Given the description of an element on the screen output the (x, y) to click on. 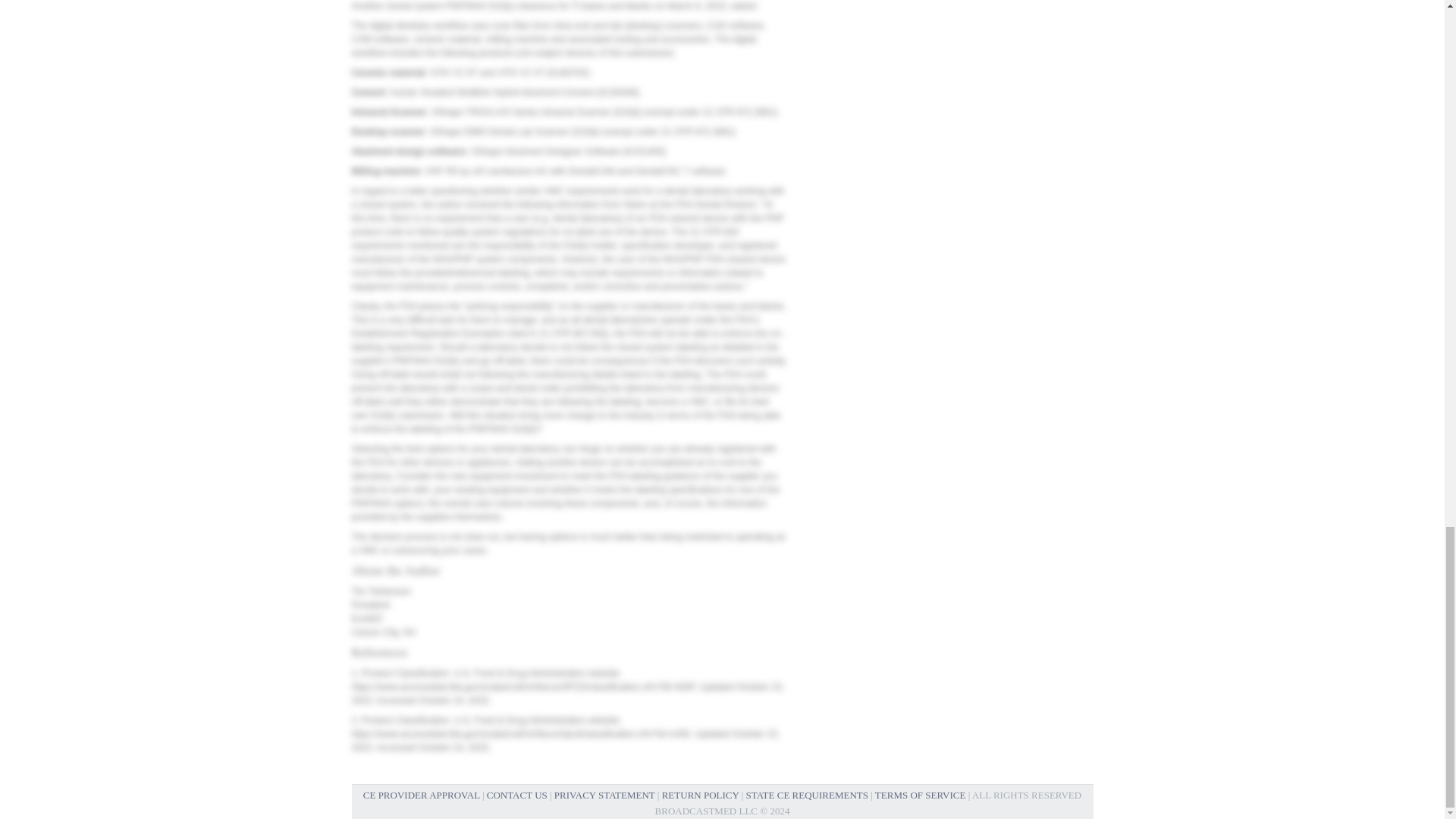
Return Policy (700, 794)
CE Provider Approval (421, 794)
State CE Requirements (806, 794)
Contact Us (516, 794)
Privacy Statement (604, 794)
Terms of Service (920, 794)
